Given the description of an element on the screen output the (x, y) to click on. 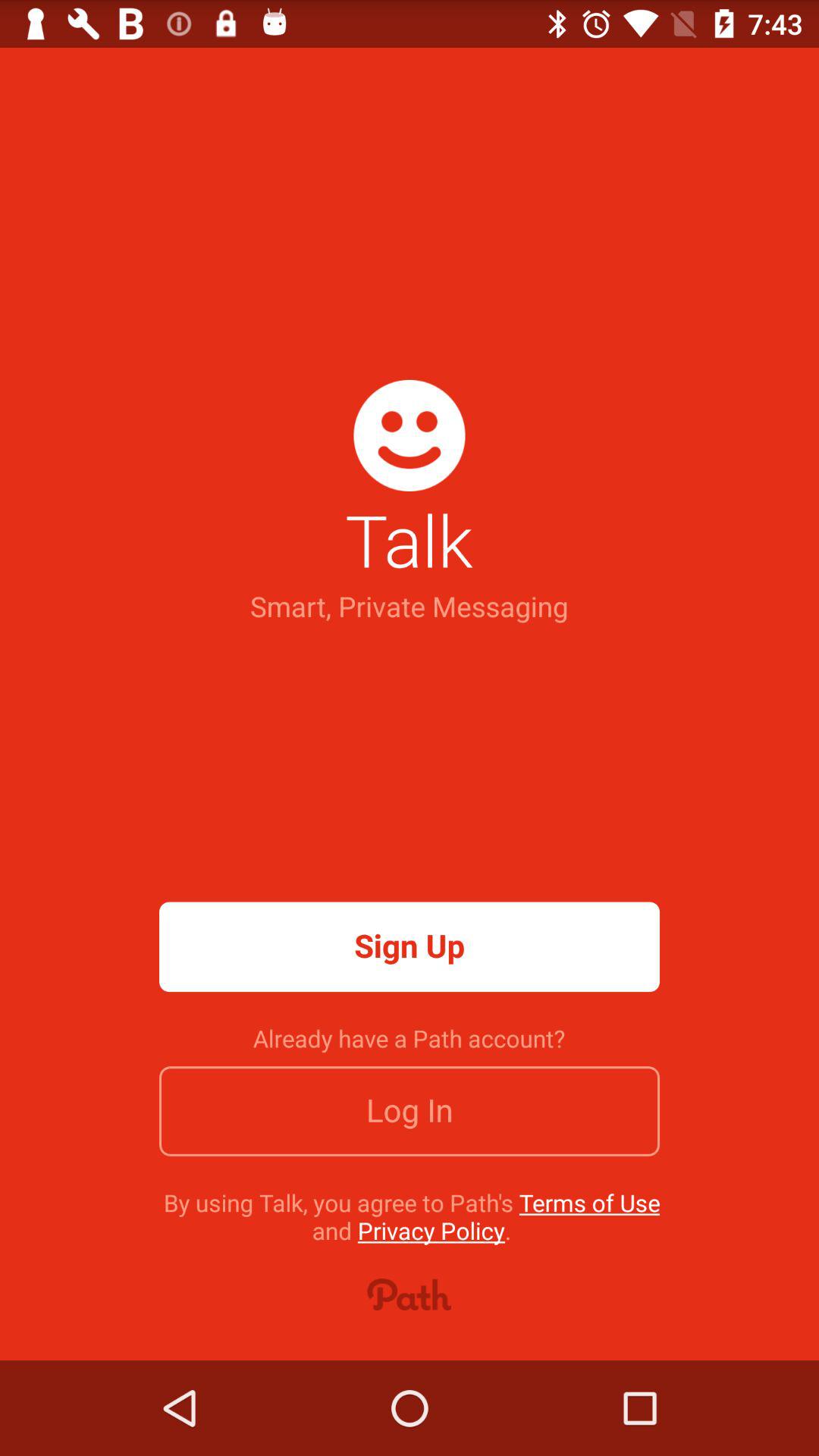
tap sign up item (409, 946)
